Given the description of an element on the screen output the (x, y) to click on. 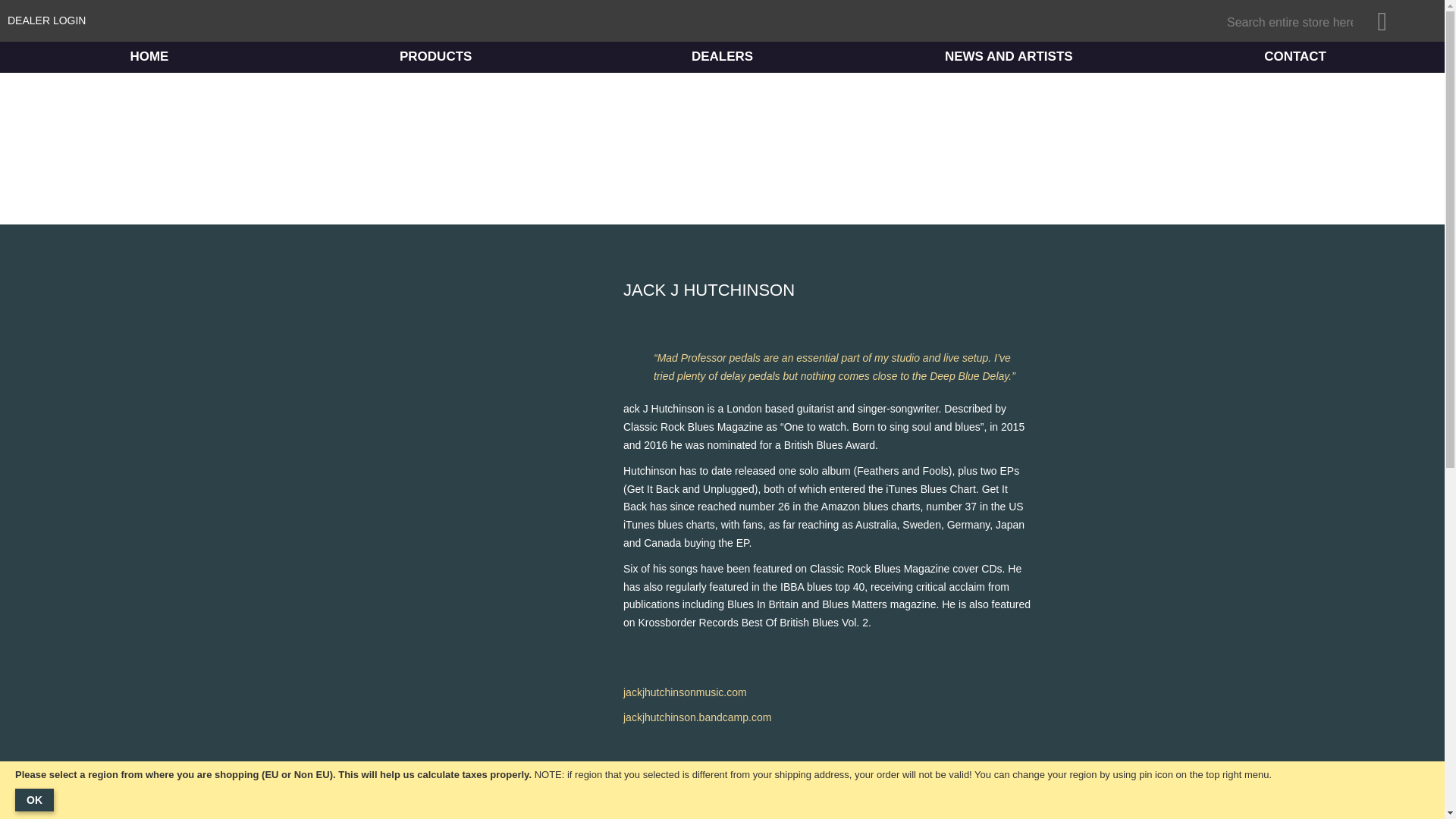
PRODUCTS (435, 56)
My Cart (1408, 21)
NEWS AND ARTISTS (1007, 56)
CONTACT (1294, 56)
jackjhutchinsonmusic.com (684, 692)
DEALERS (722, 56)
OK (33, 799)
jackjhutchinson.bandcamp.com (697, 717)
HOME (148, 56)
